Given the description of an element on the screen output the (x, y) to click on. 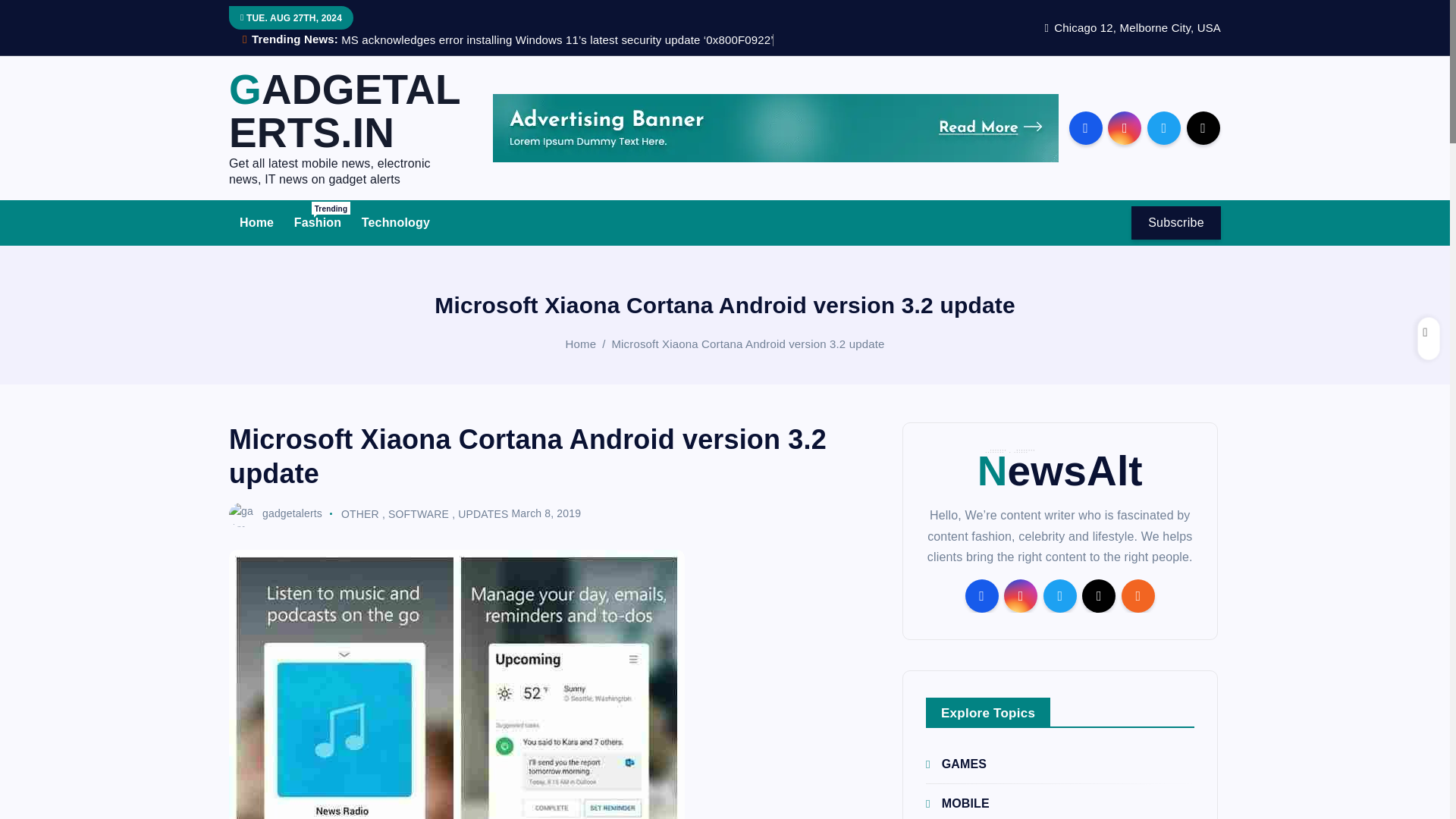
gadgetalerts (274, 512)
Home (256, 222)
OTHER (359, 512)
Technology (395, 222)
Microsoft Xiaona Cortana Android version 3.2 update (747, 343)
GADGETALERTS.IN (345, 111)
Fashion  Trending (317, 222)
Technology (395, 222)
SOFTWARE (418, 512)
Subscribe (1176, 222)
